Given the description of an element on the screen output the (x, y) to click on. 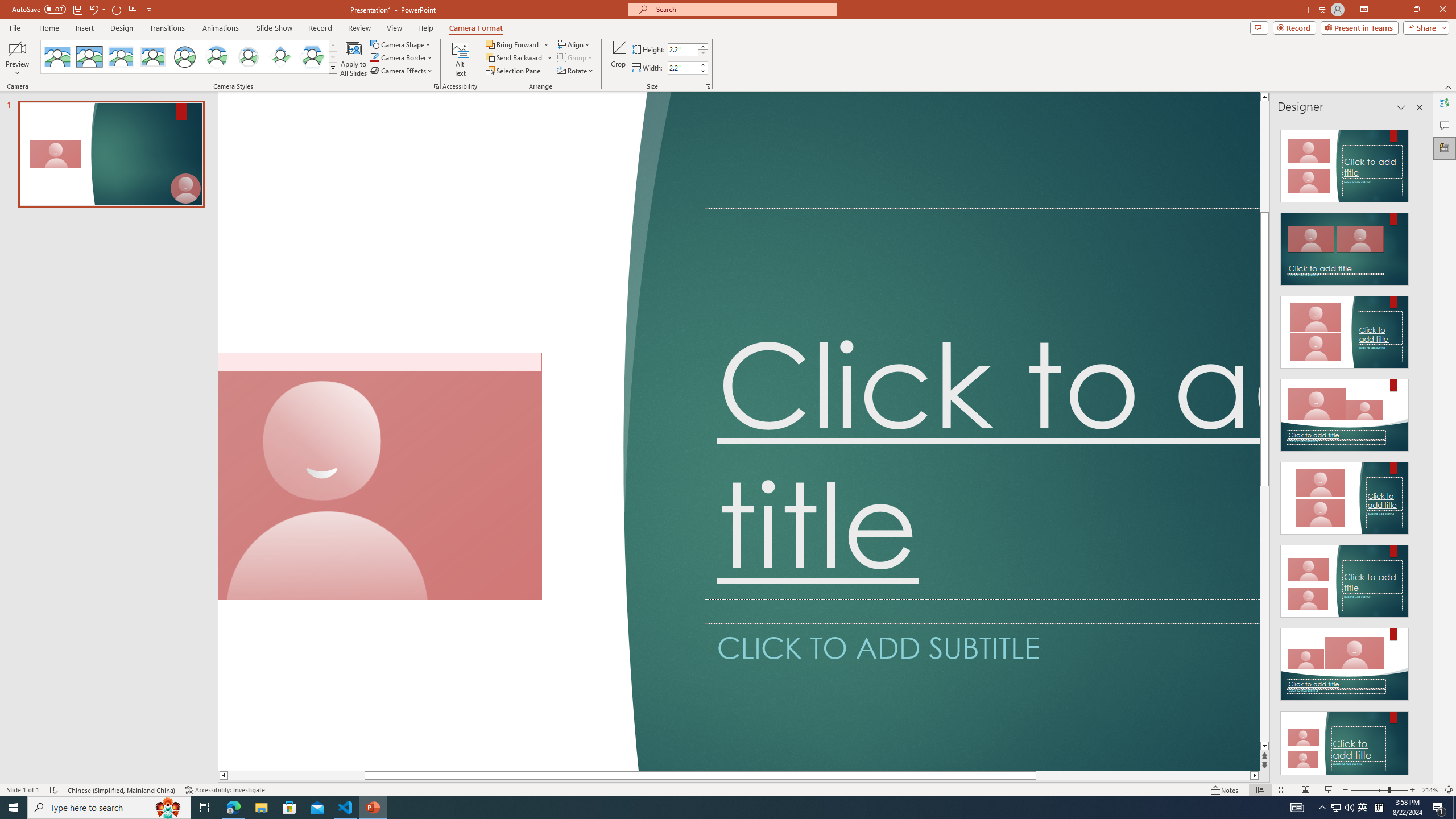
Bring Forward (517, 44)
Design Idea (1344, 743)
Enable Camera Preview (17, 48)
Soft Edge Rectangle (152, 56)
